Given the description of an element on the screen output the (x, y) to click on. 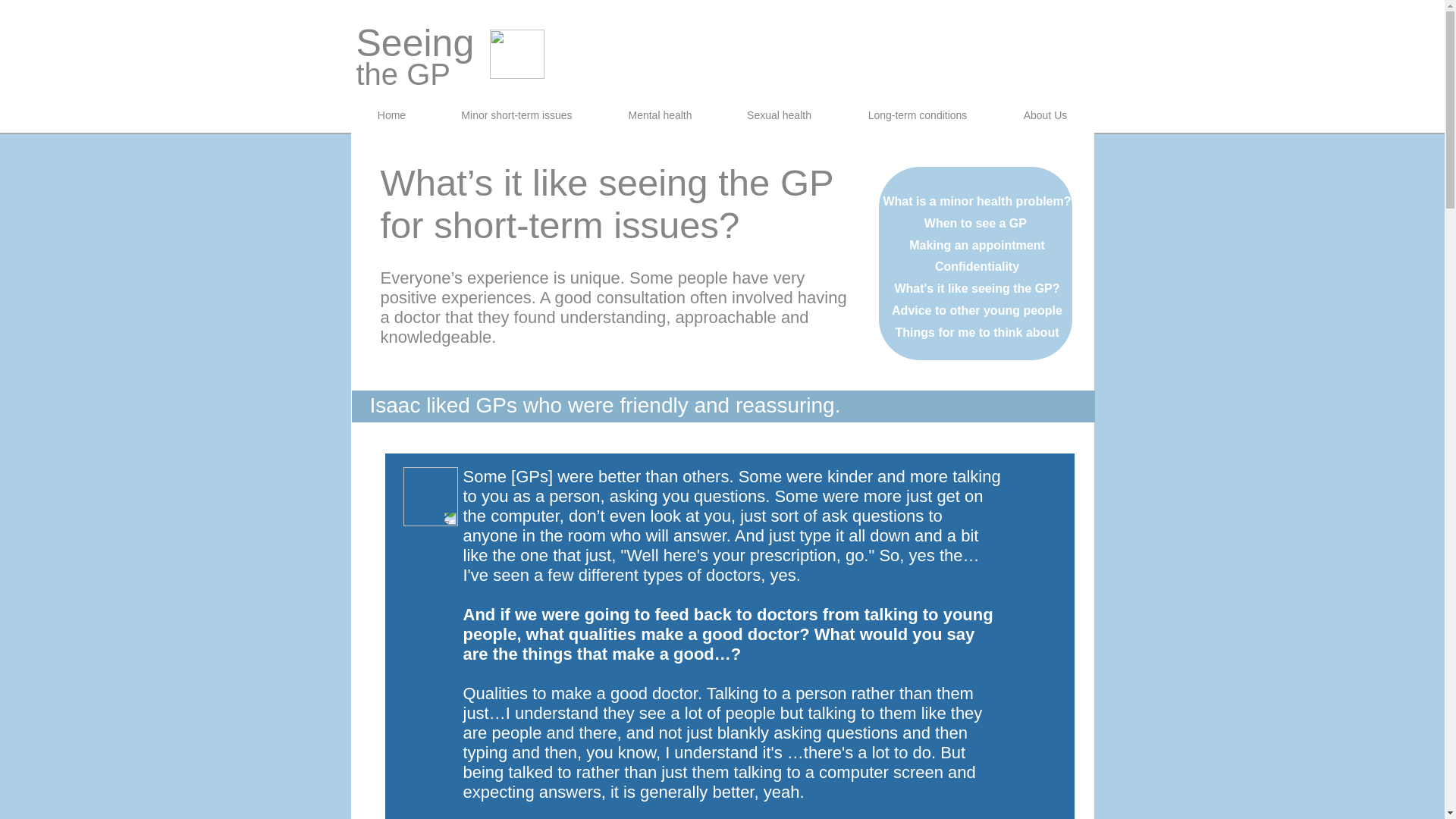
Advice to other young people (976, 309)
Sexual health (778, 115)
What's it like seeing the GP? (976, 287)
Home (391, 115)
Minor short-term issues (515, 115)
Making an appointment (976, 245)
When to see a GP  (976, 223)
Seeing (415, 43)
Confidentiality (976, 266)
Long-term conditions (916, 115)
Mental health (659, 115)
What is a minor health problem? (976, 201)
the GP (403, 73)
About Us (1044, 115)
Things for me to think about (976, 332)
